Given the description of an element on the screen output the (x, y) to click on. 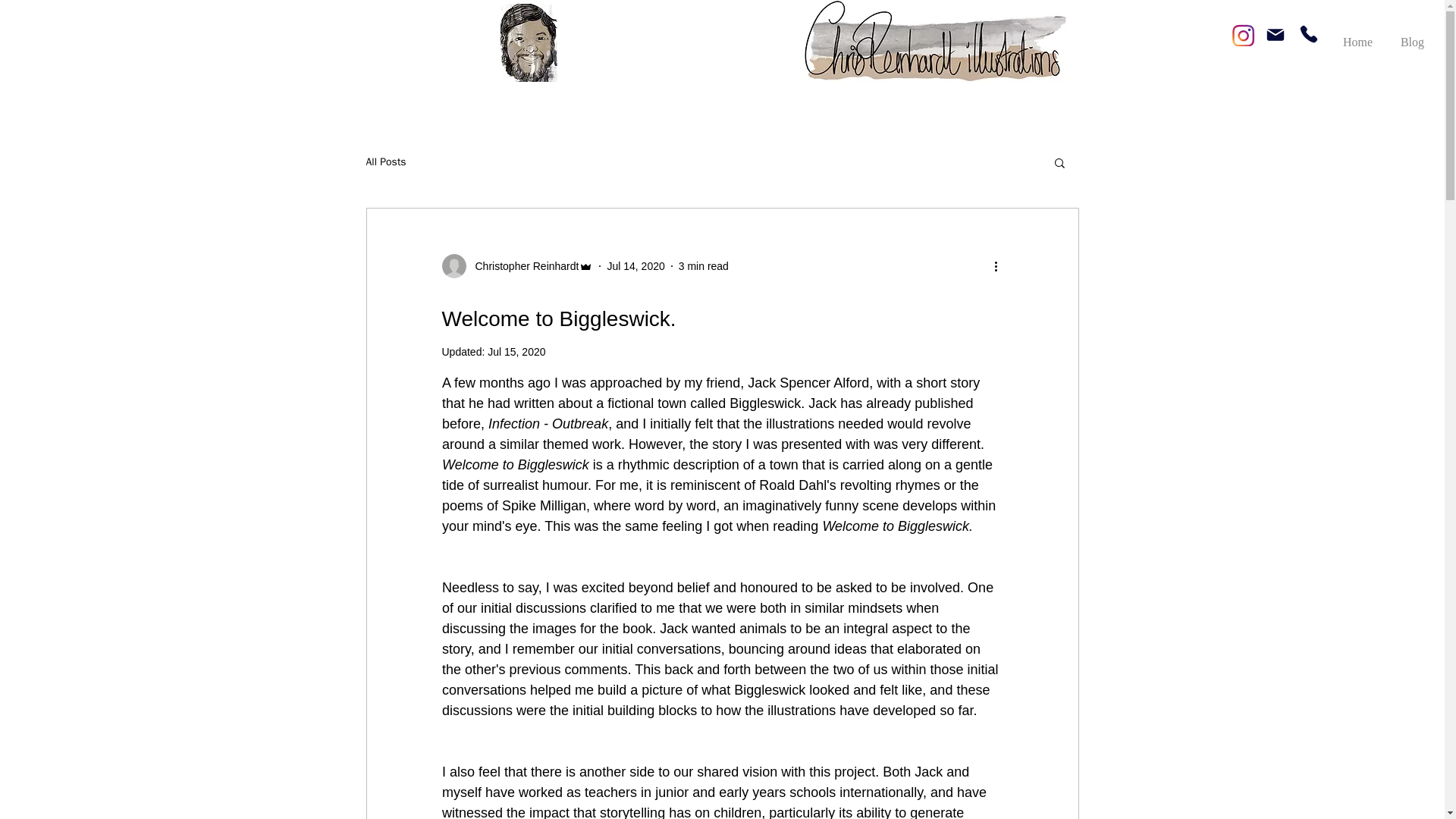
Christopher Reinhardt (521, 265)
Blog (1412, 35)
3 min read (703, 265)
Christopher Reinhardt (516, 265)
Home (1356, 35)
Jul 14, 2020 (635, 265)
All Posts (385, 161)
Jul 15, 2020 (515, 351)
